Given the description of an element on the screen output the (x, y) to click on. 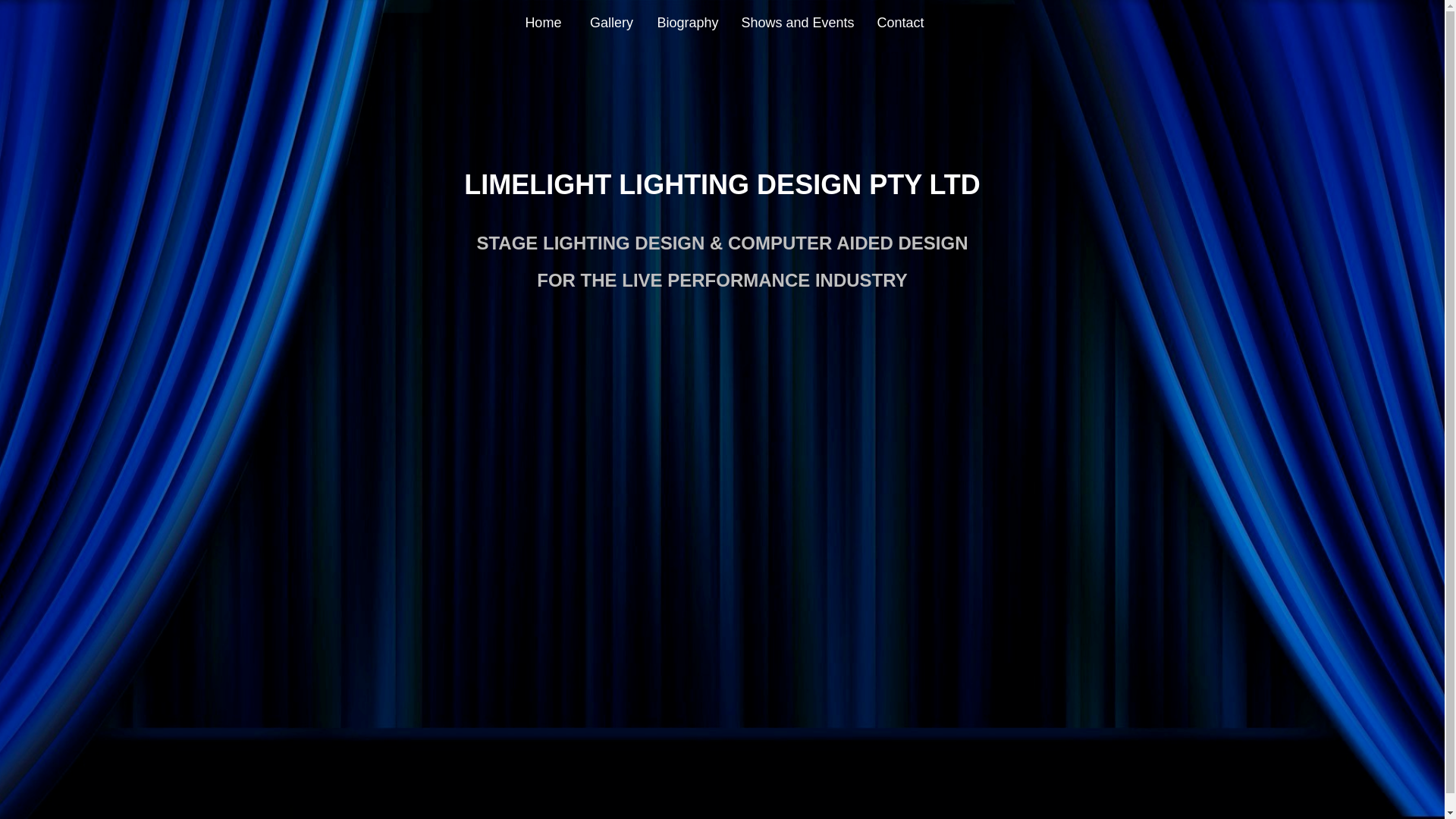
Gallery Element type: text (610, 23)
Biography Element type: text (687, 23)
Contact Element type: text (900, 23)
Home Element type: text (542, 23)
Shows and Events Element type: text (797, 23)
